Given the description of an element on the screen output the (x, y) to click on. 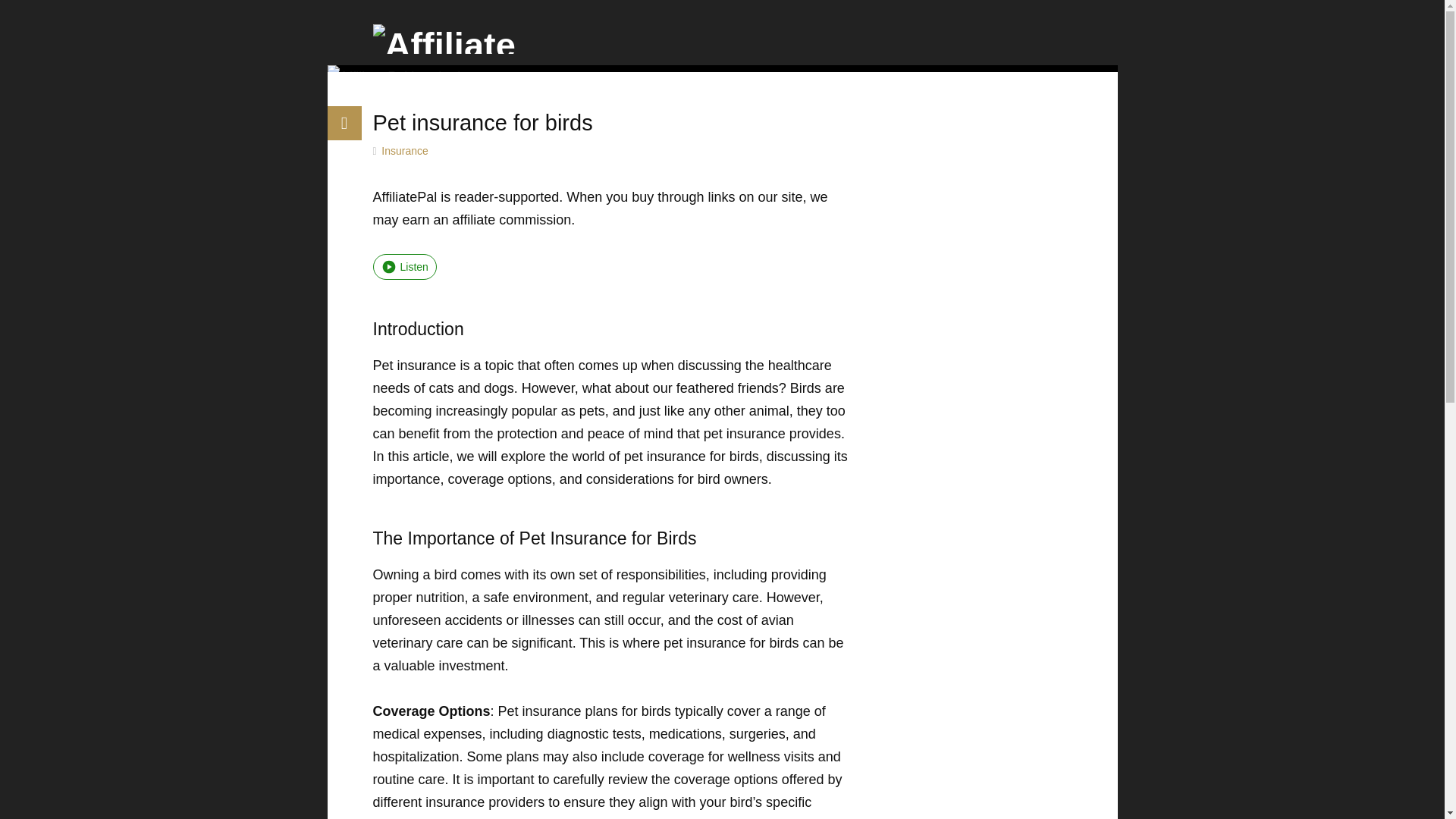
The Importance of Pet Insurance for Birds (611, 538)
Insurance (404, 150)
Introduction (611, 329)
